Given the description of an element on the screen output the (x, y) to click on. 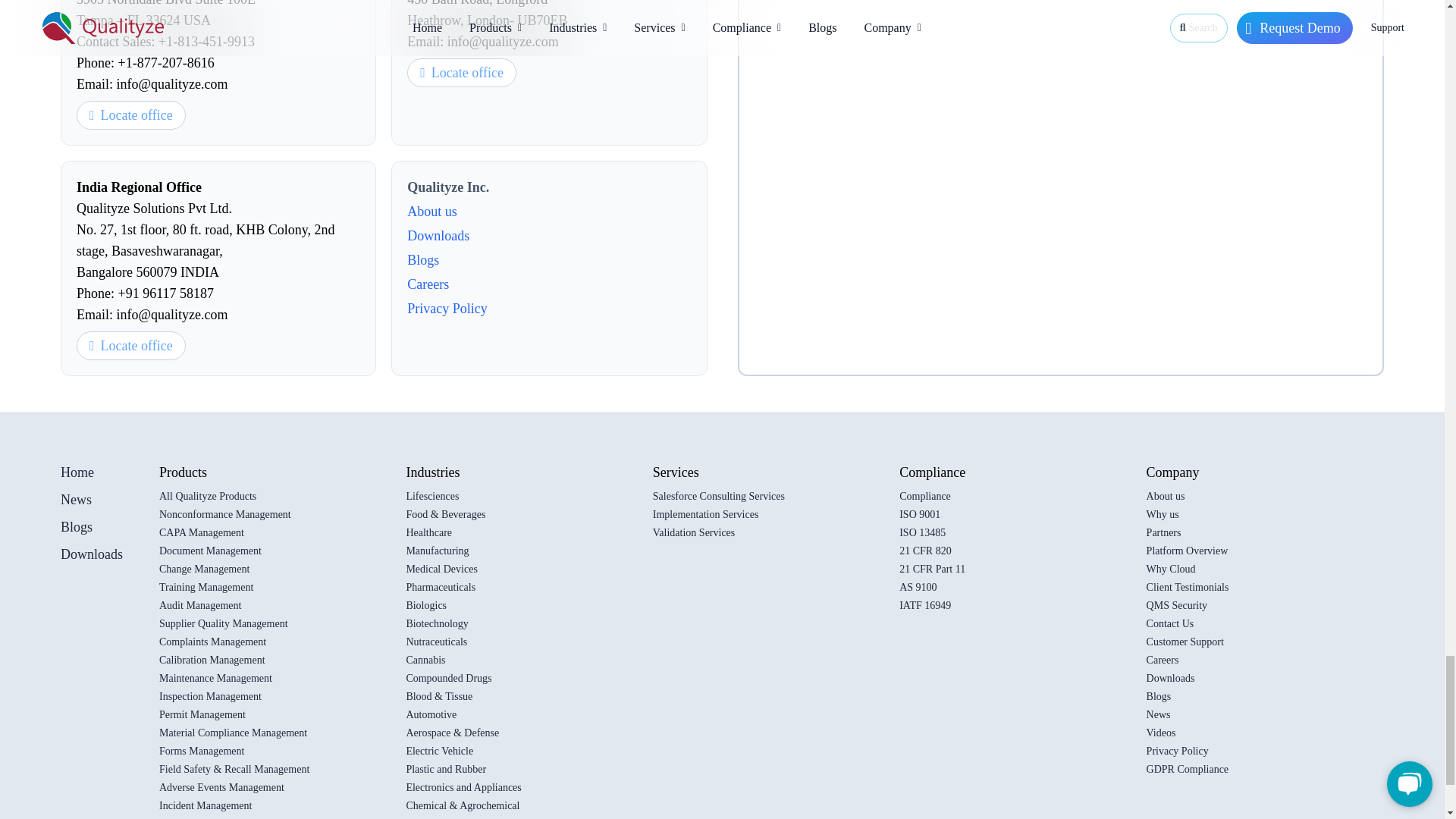
Blogs (548, 260)
Downloads (548, 235)
About us (548, 210)
Locate office (131, 114)
Locate office (131, 345)
Locate office (461, 72)
Careers (548, 283)
